Given the description of an element on the screen output the (x, y) to click on. 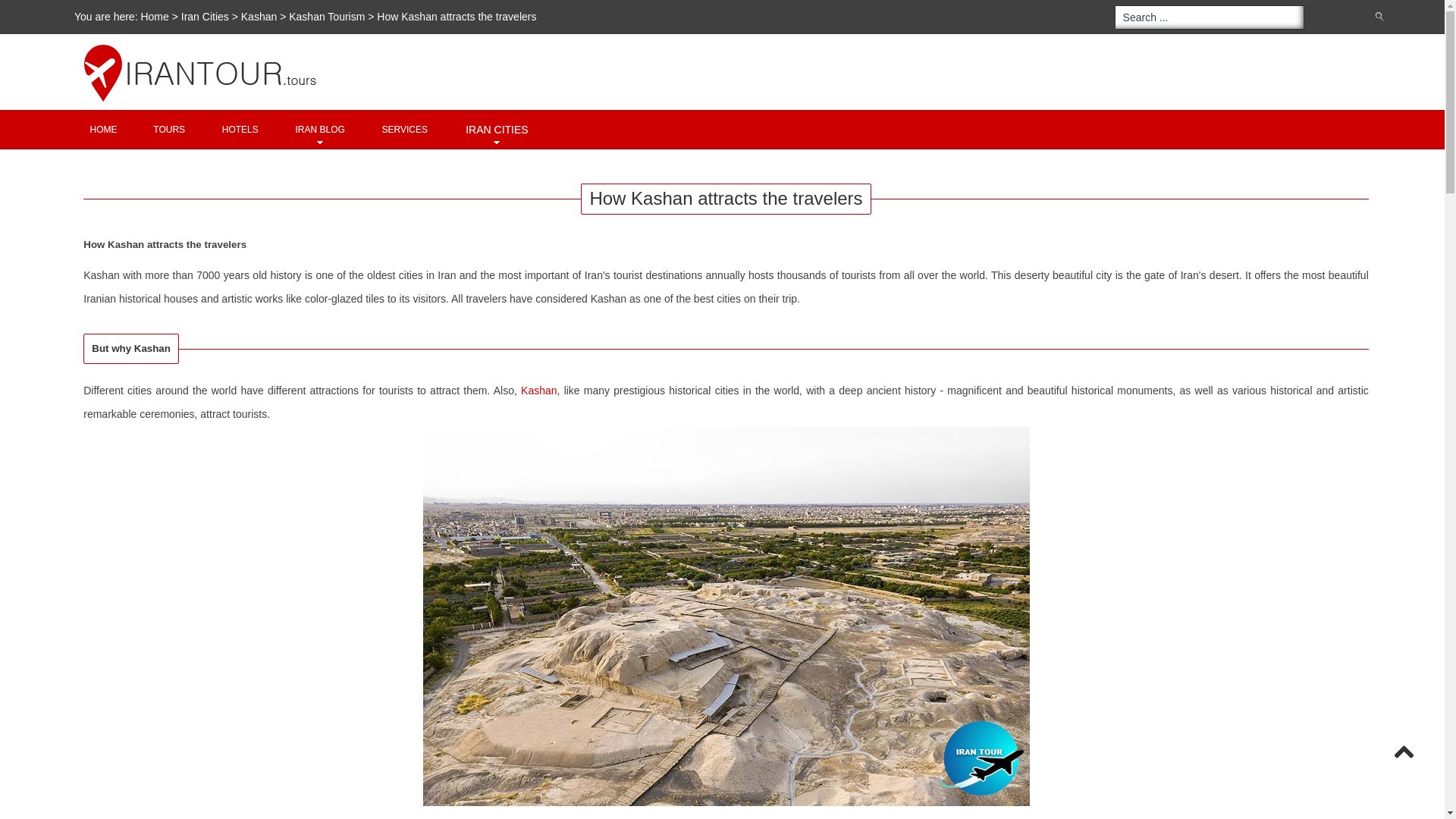
Tours (168, 129)
HOME (103, 129)
Kashan (538, 390)
TOURS (168, 129)
Home (103, 129)
Search ... (1209, 16)
Kashan Tourism (326, 16)
Home (154, 16)
IRAN BLOG (320, 129)
SERVICES (404, 129)
